Given the description of an element on the screen output the (x, y) to click on. 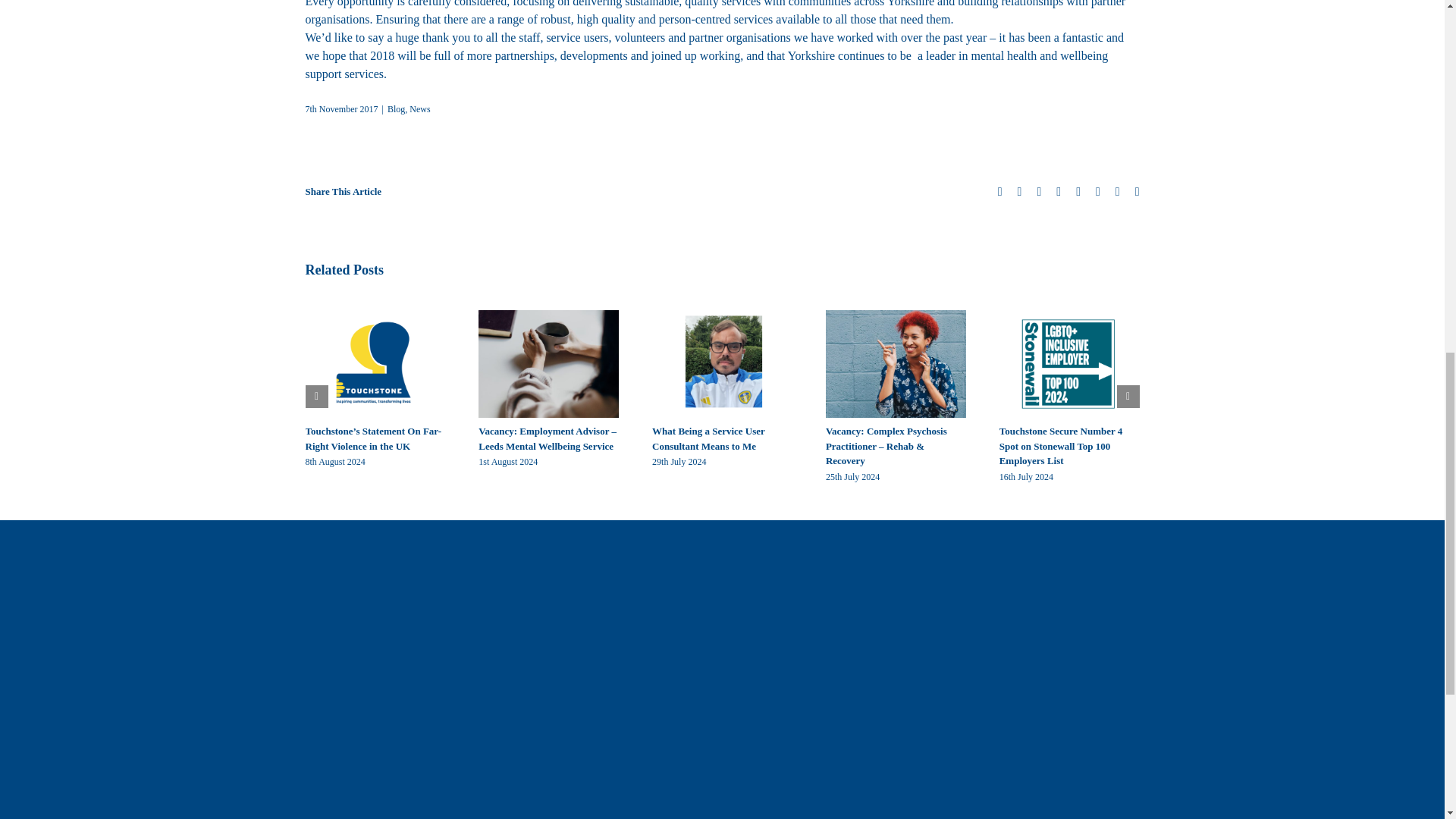
What Being a Service User Consultant Means to Me (708, 438)
Blog (395, 109)
News (419, 109)
